Given the description of an element on the screen output the (x, y) to click on. 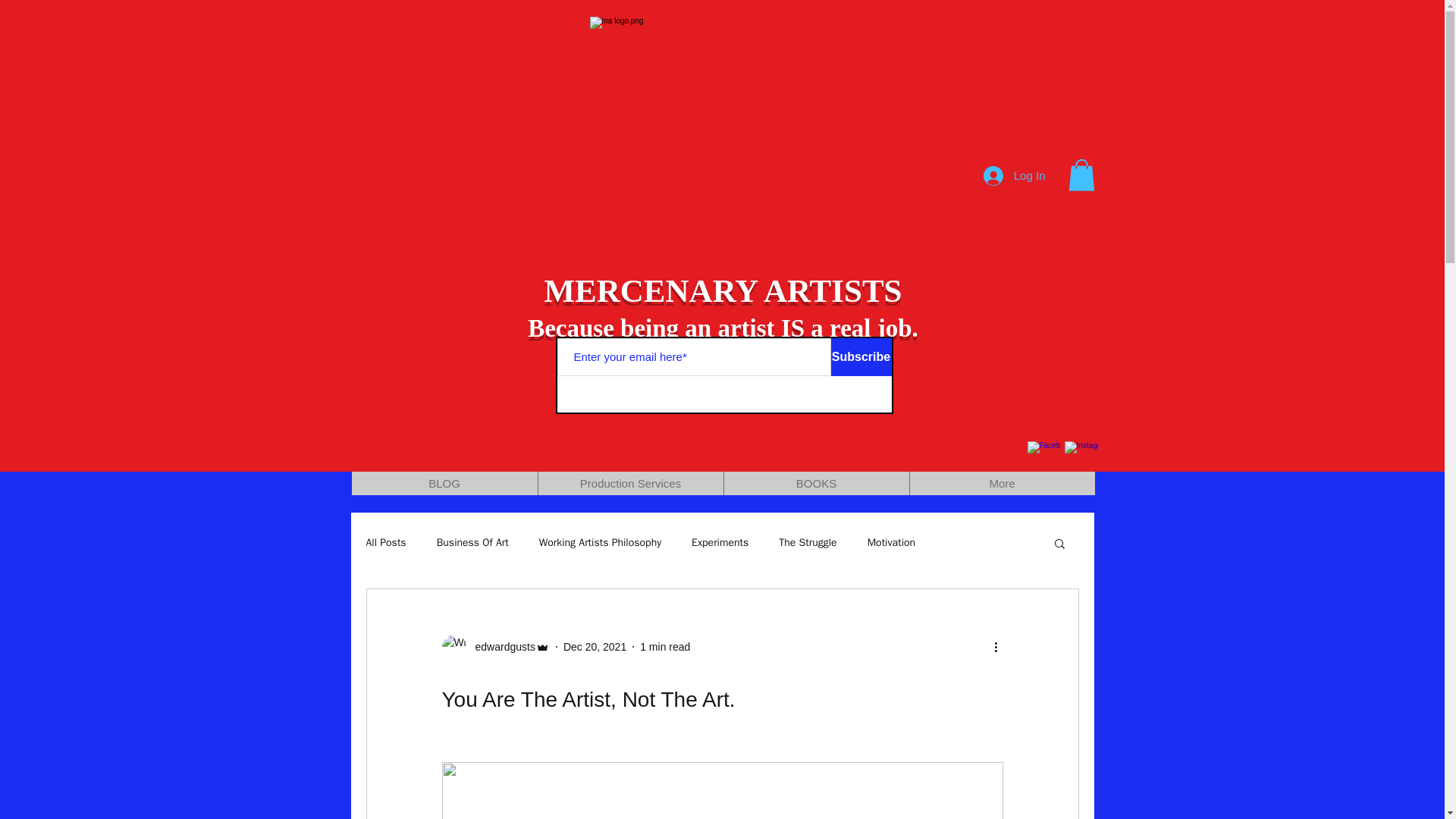
Working Artists Philosophy (599, 542)
Experiments (719, 542)
Production Services (629, 483)
Business Of Art (472, 542)
All Posts (385, 542)
BLOG (444, 483)
Subscribe (861, 356)
Dec 20, 2021 (594, 645)
edwardgusts (494, 646)
BOOKS (815, 483)
